Given the description of an element on the screen output the (x, y) to click on. 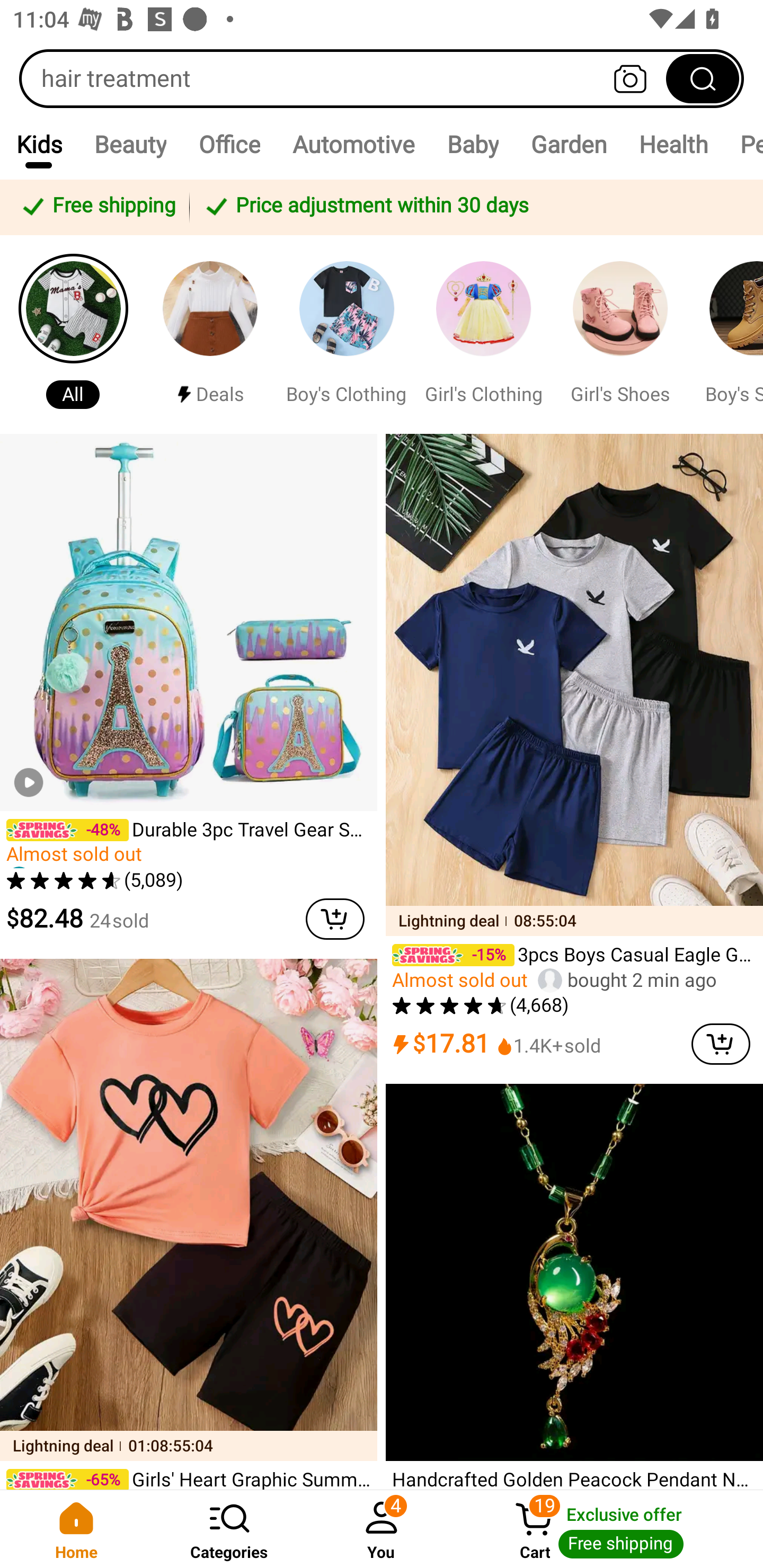
hair treatment (381, 78)
Kids (38, 144)
Beauty (129, 144)
Office (229, 144)
Automotive (353, 144)
Baby (472, 144)
Garden (568, 144)
Health (673, 144)
Free shipping (97, 206)
Price adjustment within 30 days (472, 206)
All (72, 333)
￼￼Deals (209, 333)
Boy's Clothing (346, 333)
Girl's Clothing (482, 333)
Girl's Shoes (619, 333)
cart delete (334, 918)
cart delete (720, 1043)
Home (76, 1528)
Categories (228, 1528)
You 4 You (381, 1528)
Cart 19 Cart Exclusive offer (610, 1528)
